Given the description of an element on the screen output the (x, y) to click on. 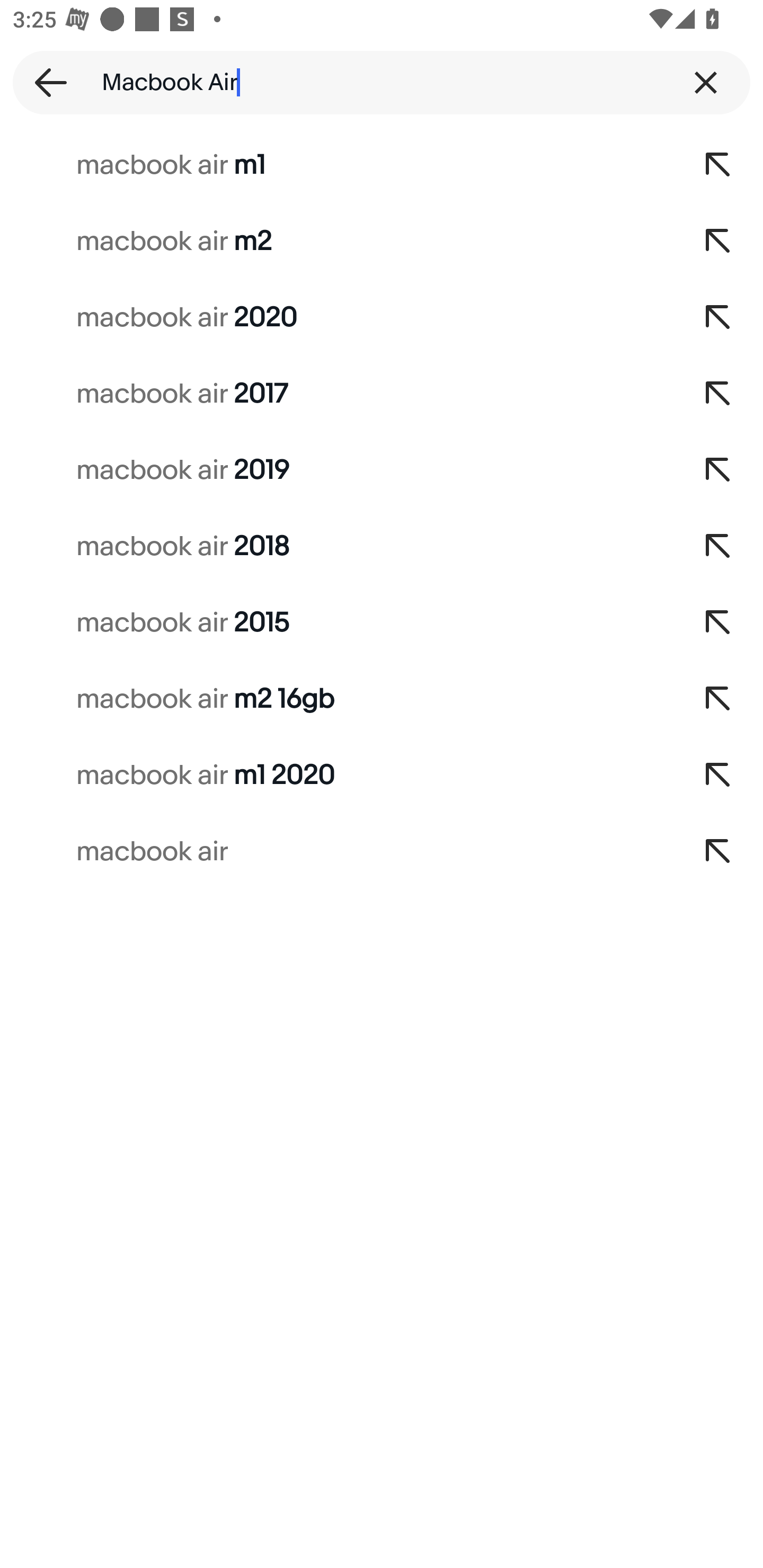
Back (44, 82)
Clear query (705, 82)
Macbook Air (381, 82)
macbook air m1 (336, 165)
Add to search query,macbook air m1 (718, 165)
macbook air m2 (336, 241)
Add to search query,macbook air m2 (718, 241)
macbook air 2020 (336, 317)
Add to search query,macbook air 2020 (718, 317)
macbook air 2017 (336, 393)
Add to search query,macbook air 2017 (718, 393)
macbook air 2019 (336, 470)
Add to search query,macbook air 2019 (718, 470)
macbook air 2018 (336, 546)
Add to search query,macbook air 2018 (718, 546)
macbook air 2015 (336, 622)
Add to search query,macbook air 2015 (718, 622)
macbook air m2 16gb (336, 698)
Add to search query,macbook air m2 16gb (718, 698)
macbook air m1 2020 (336, 774)
Add to search query,macbook air m1 2020 (718, 774)
macbook air (336, 851)
Add to search query,macbook air (718, 851)
